Given the description of an element on the screen output the (x, y) to click on. 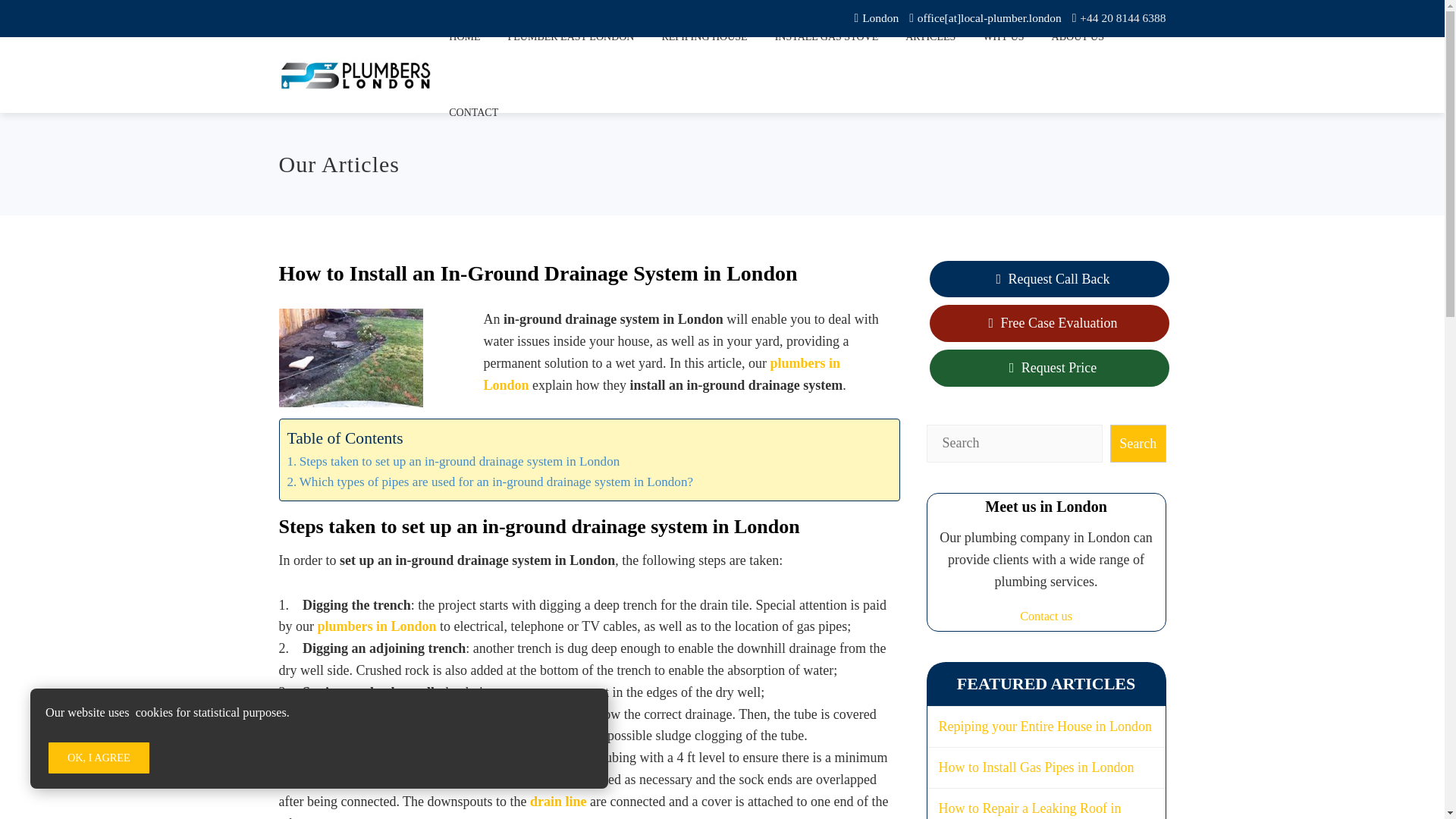
Steps taken to set up an in-ground drainage system in London (453, 461)
plumbers in London (661, 374)
REPIPING HOUSE (703, 37)
INSTALL GAS STOVE (825, 37)
plumbers in London (376, 626)
PLUMBER EAST LONDON (570, 37)
drain line (557, 801)
OK, I AGREE (98, 757)
ARTICLES (929, 37)
CONTACT (473, 112)
ABOUT US (1078, 37)
